Given the description of an element on the screen output the (x, y) to click on. 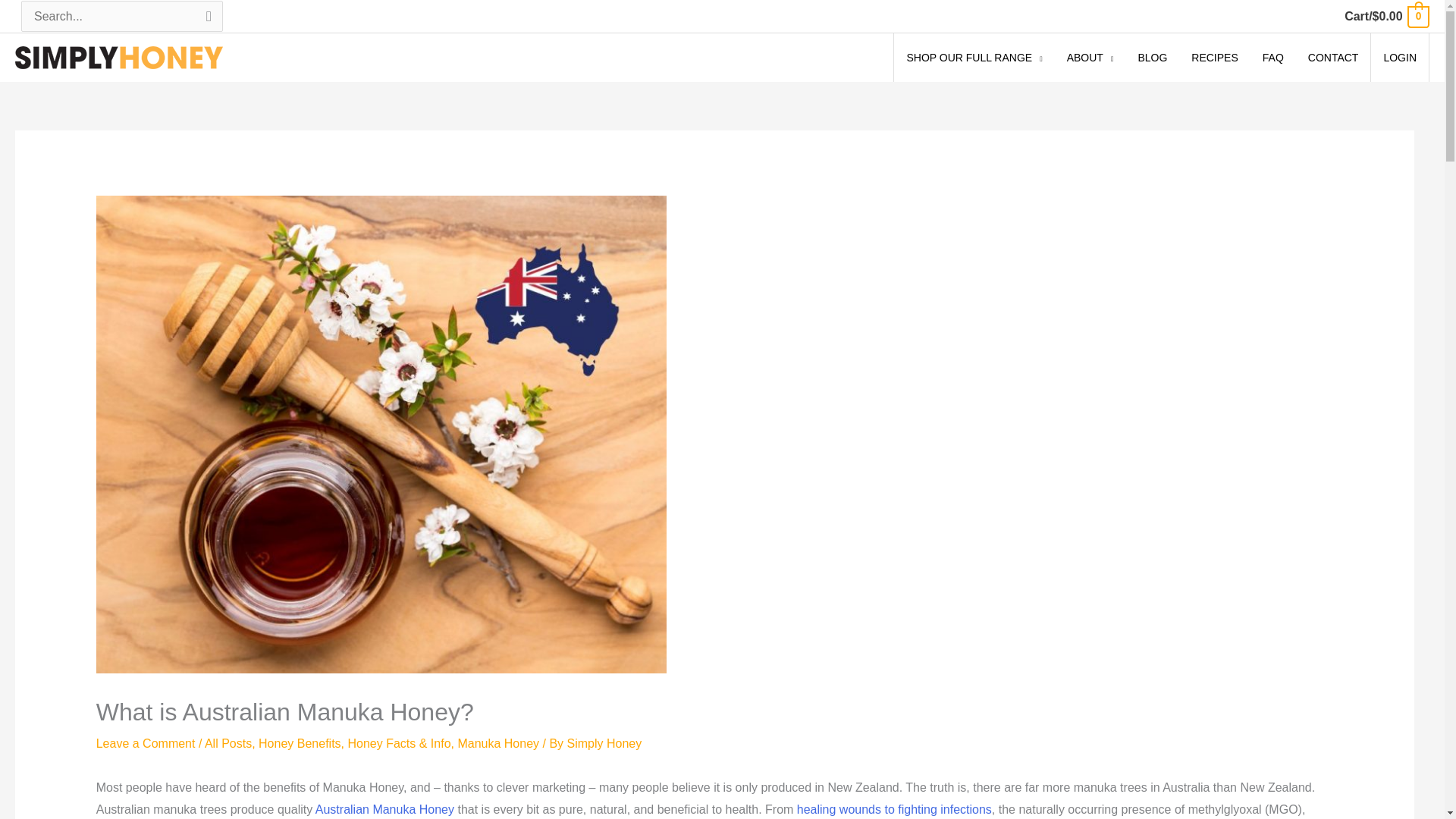
View all posts by Simply Honey (604, 743)
BLOG (1152, 57)
SHOP OUR FULL RANGE (973, 57)
ABOUT (1089, 57)
FAQ (1272, 57)
CONTACT (1333, 57)
RECIPES (1214, 57)
LOGIN (1399, 57)
